Given the description of an element on the screen output the (x, y) to click on. 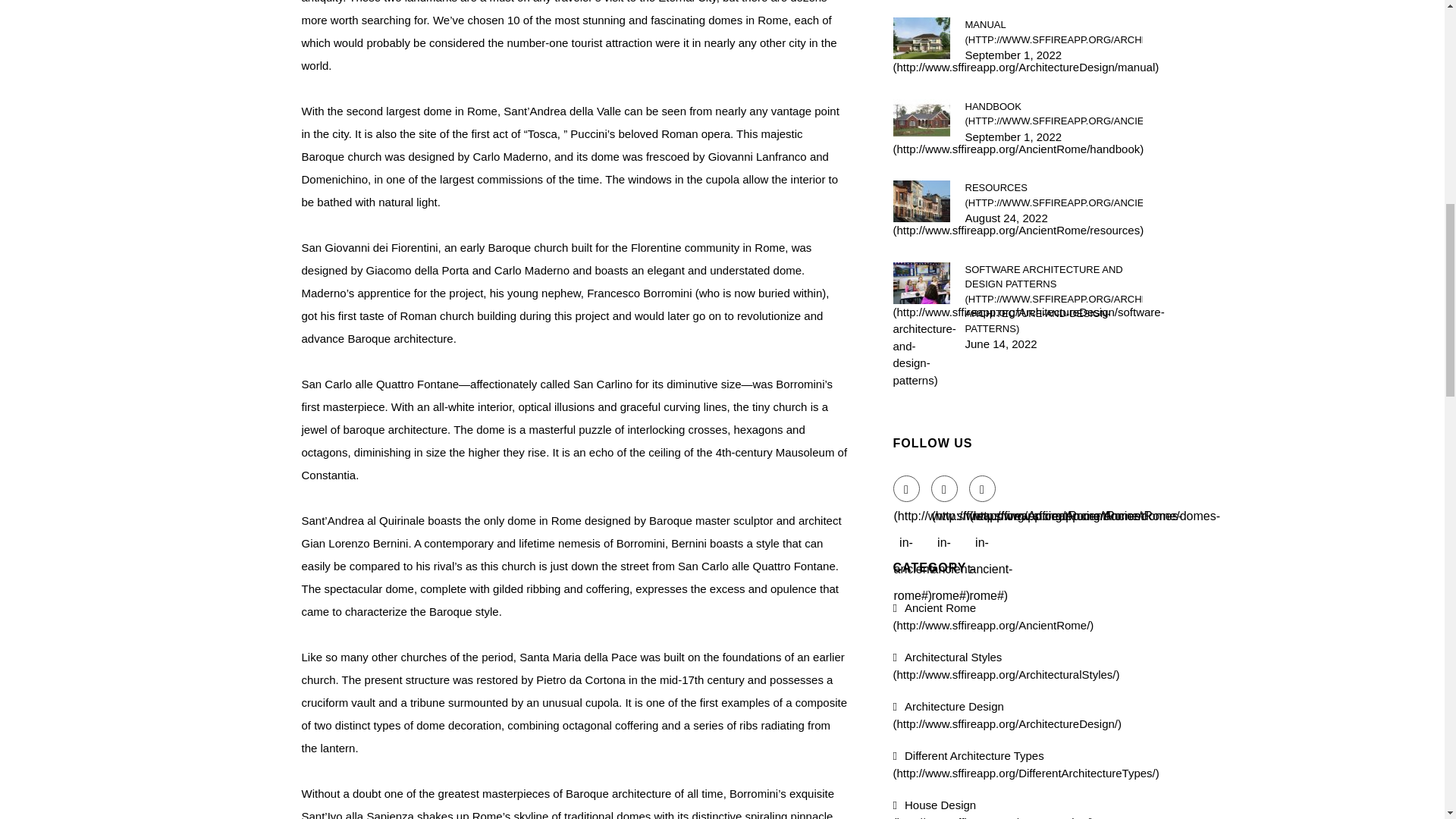
Facebook (906, 488)
View all posts filed under Architecture Design (1007, 715)
View all posts filed under House Design (993, 808)
MANUAL (1052, 31)
Twitter (944, 488)
HANDBOOK (1052, 112)
Google Plus (982, 488)
View all posts filed under Ancient Rome (993, 616)
View all posts filed under Architectural Styles (1006, 665)
View all posts filed under Different Architecture Types (1025, 764)
